Given the description of an element on the screen output the (x, y) to click on. 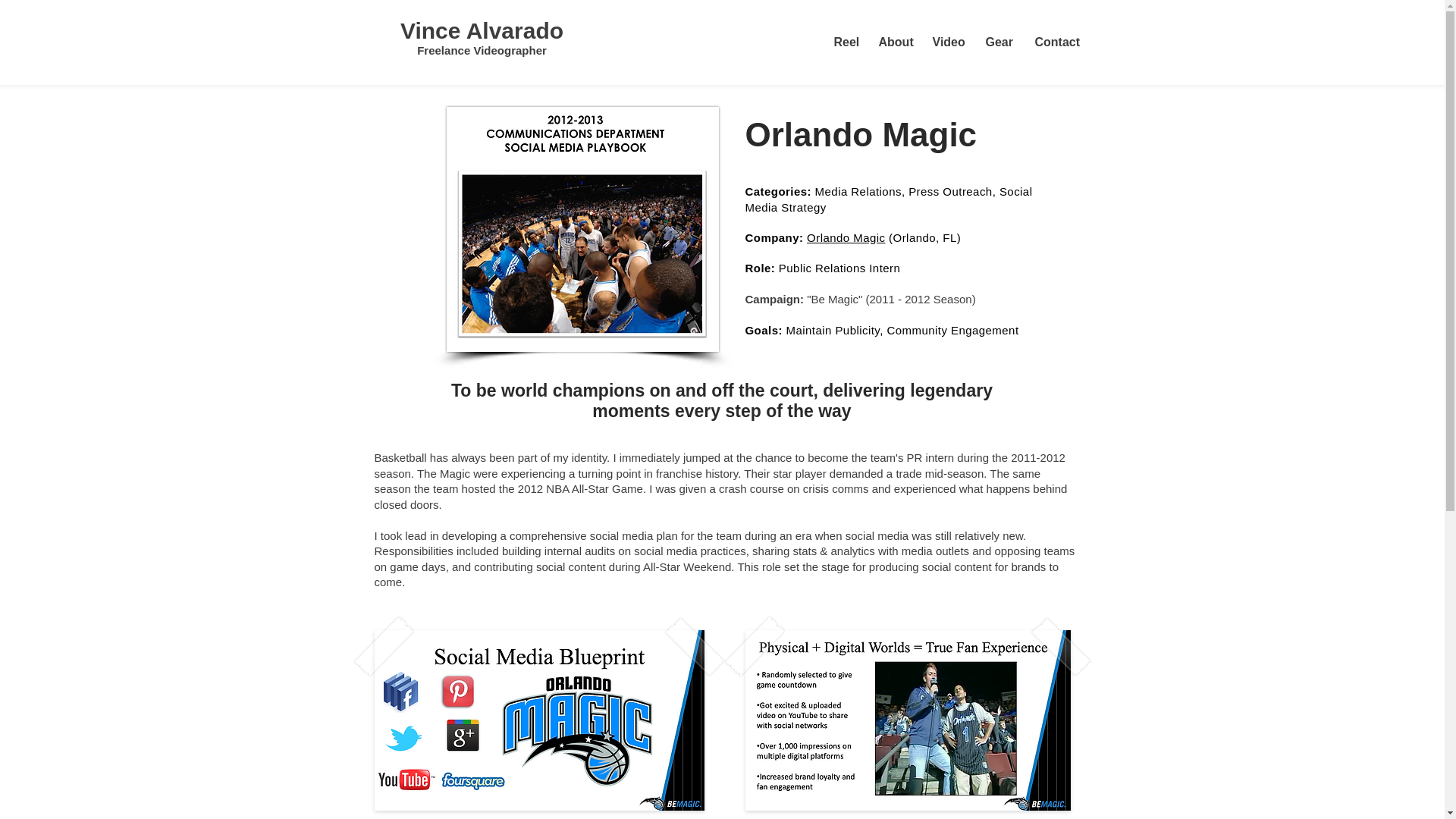
Orlando Magic (845, 236)
Reel (844, 41)
Gear (998, 41)
Contact (1054, 41)
Video (947, 41)
About (894, 41)
Vince Alvarado (481, 30)
